Given the description of an element on the screen output the (x, y) to click on. 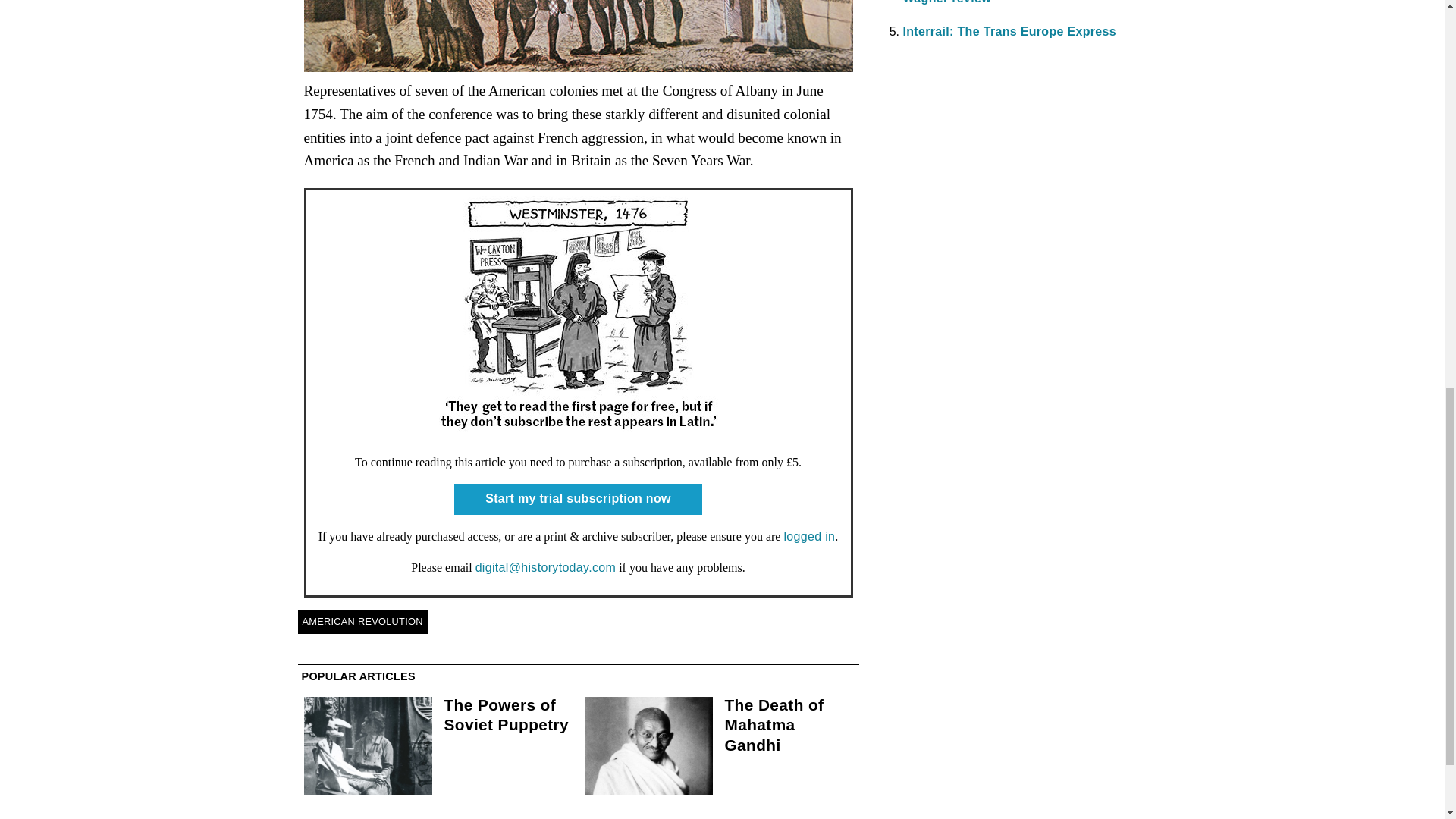
Start my trial subscription now (577, 499)
AMERICAN REVOLUTION (361, 621)
logged in (808, 535)
The Powers of Soviet Puppetry (506, 714)
